Given the description of an element on the screen output the (x, y) to click on. 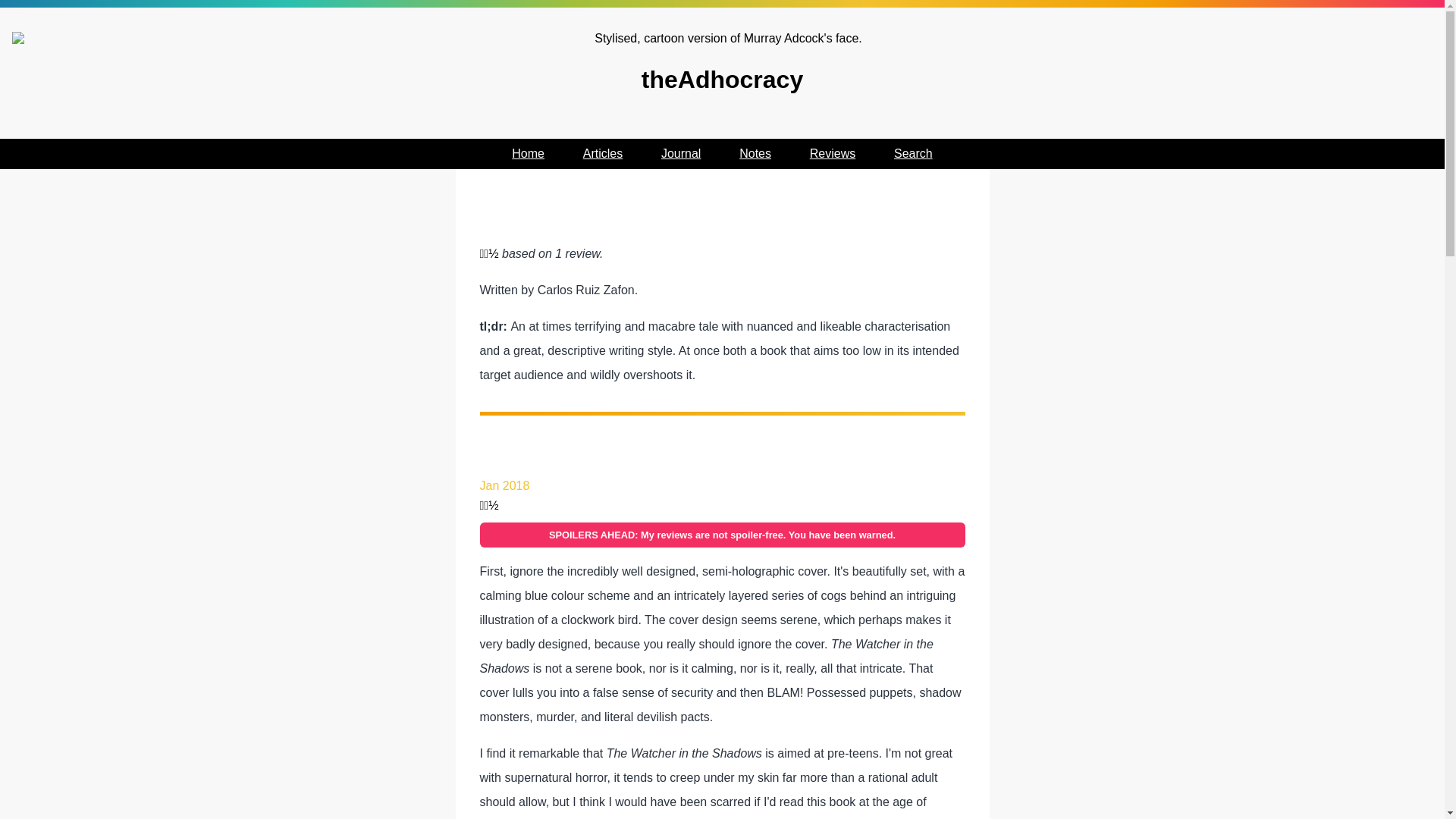
Journal (680, 153)
Search (913, 153)
Reviews (832, 153)
Notes (755, 153)
theAdhocracy (721, 64)
Home (528, 153)
Articles (603, 153)
